Given the description of an element on the screen output the (x, y) to click on. 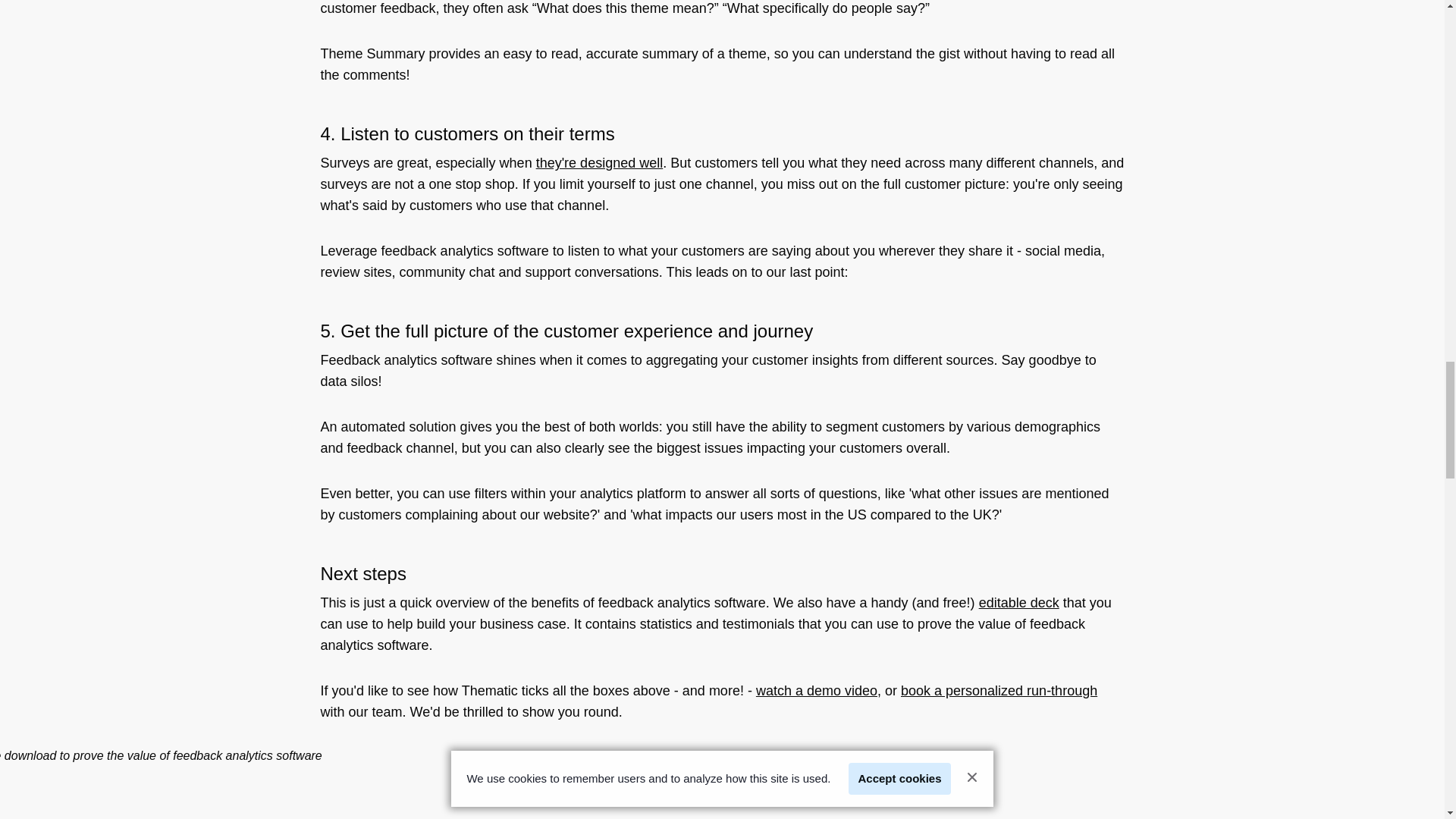
book a personalized run-through (999, 690)
they're designed well (599, 162)
watch a demo video (816, 690)
editable deck (1018, 602)
